Given the description of an element on the screen output the (x, y) to click on. 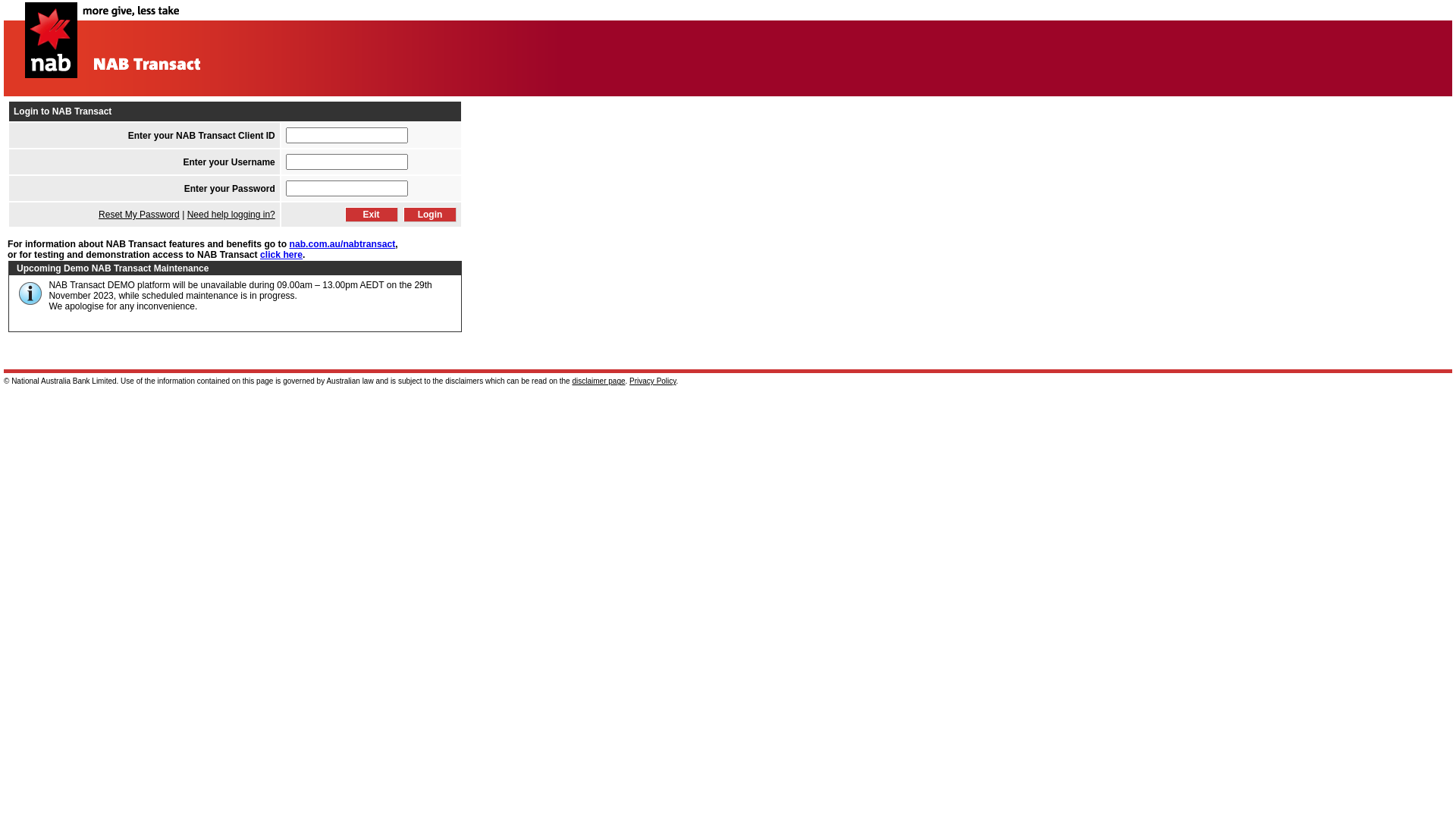
Need help logging in? Element type: text (231, 214)
click here Element type: text (281, 254)
disclaimer page Element type: text (597, 380)
Reset My Password Element type: text (138, 214)
Exit Element type: text (371, 214)
nab.com.au/nabtransact Element type: text (341, 243)
Login Element type: text (429, 214)
Privacy Policy Element type: text (652, 380)
